Given the description of an element on the screen output the (x, y) to click on. 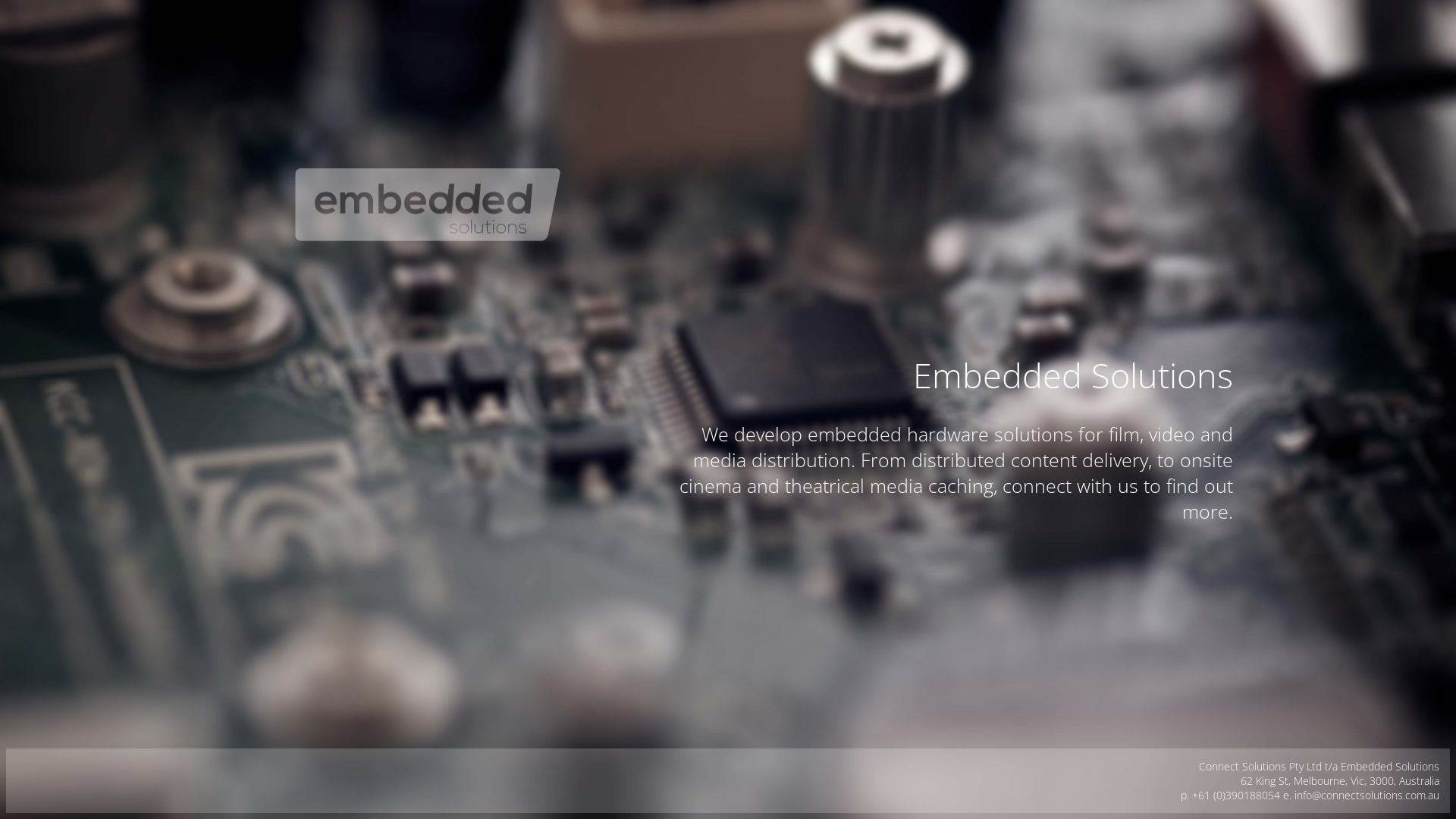
info@connectsolutions.com.au Element type: text (1366, 794)
